Given the description of an element on the screen output the (x, y) to click on. 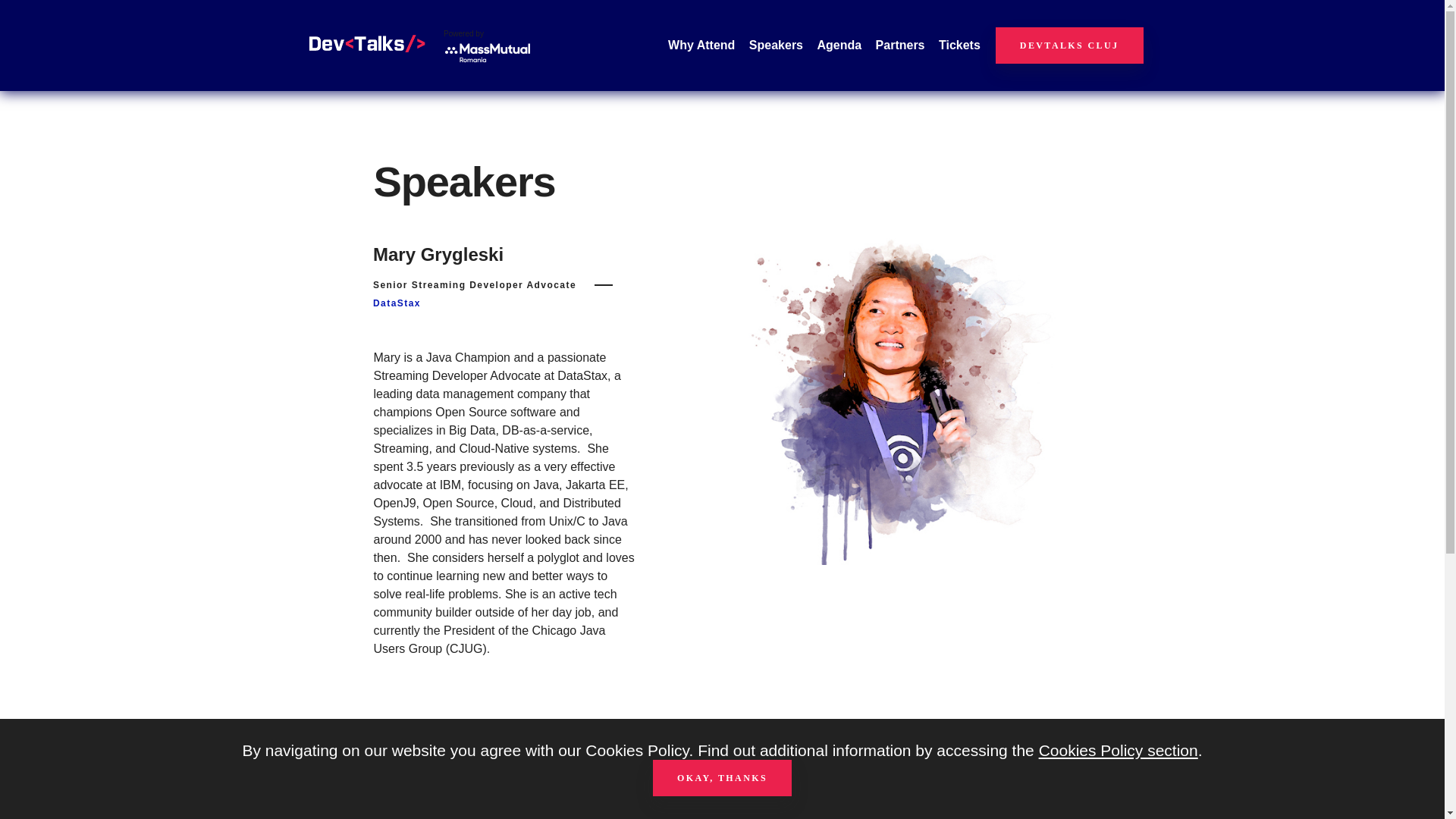
DEVTALKS CLUJ (1068, 45)
Tickets (959, 45)
Agenda (838, 45)
Why Attend (701, 45)
Cookies Policy section (1118, 750)
SUBSCRIBE NOW! (994, 806)
Speakers (776, 45)
OKAY, THANKS (722, 778)
Partners (900, 45)
DevTalks 2024 (366, 42)
